Given the description of an element on the screen output the (x, y) to click on. 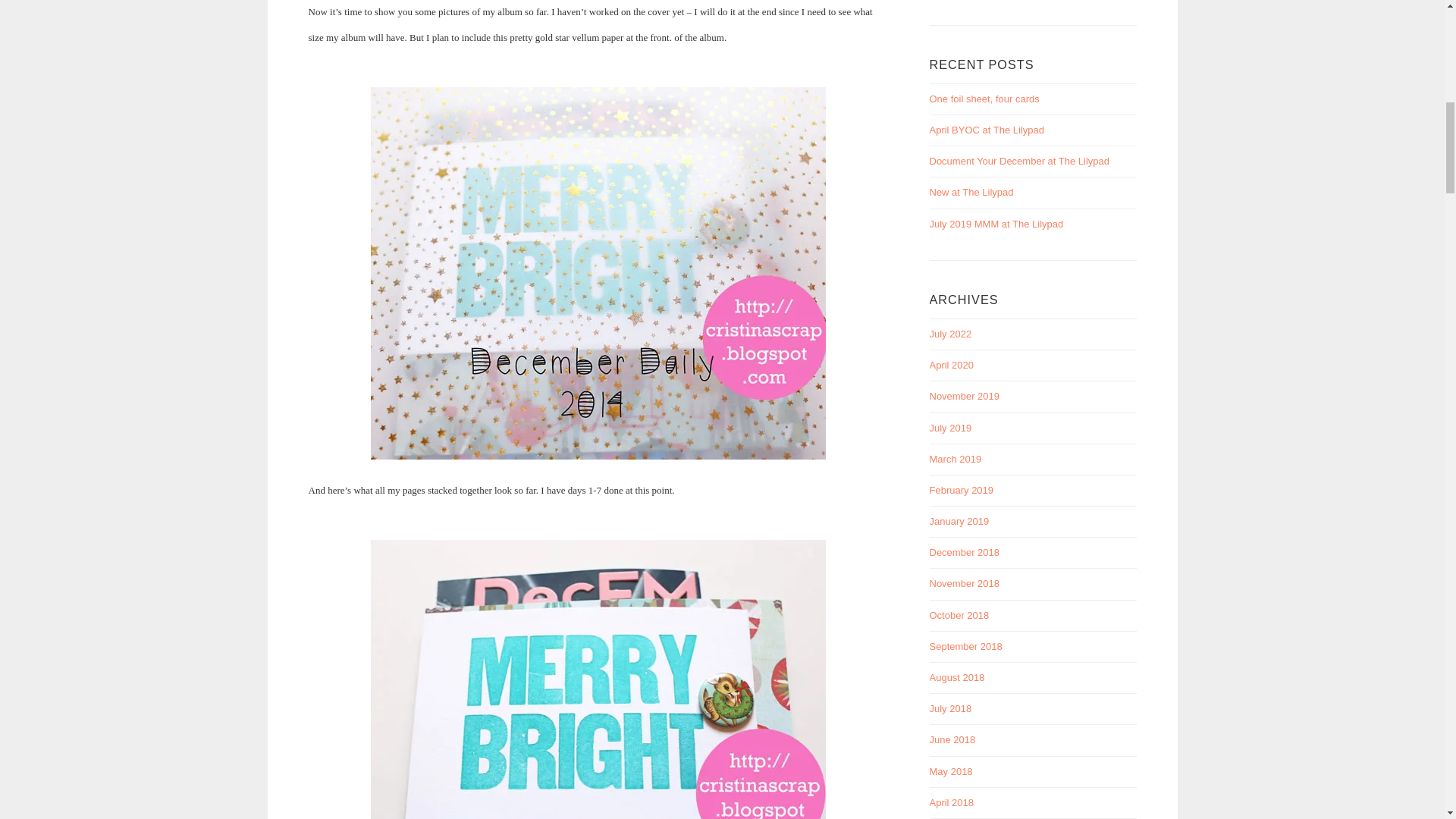
April BYOC at The Lilypad (987, 129)
April 2020 (952, 365)
December 2018 (965, 552)
January 2019 (960, 521)
November 2019 (965, 396)
March 2019 (955, 459)
July 2019 (951, 427)
July 2019 MMM at The Lilypad (997, 224)
November 2018 (965, 583)
New at The Lilypad (971, 192)
